Given the description of an element on the screen output the (x, y) to click on. 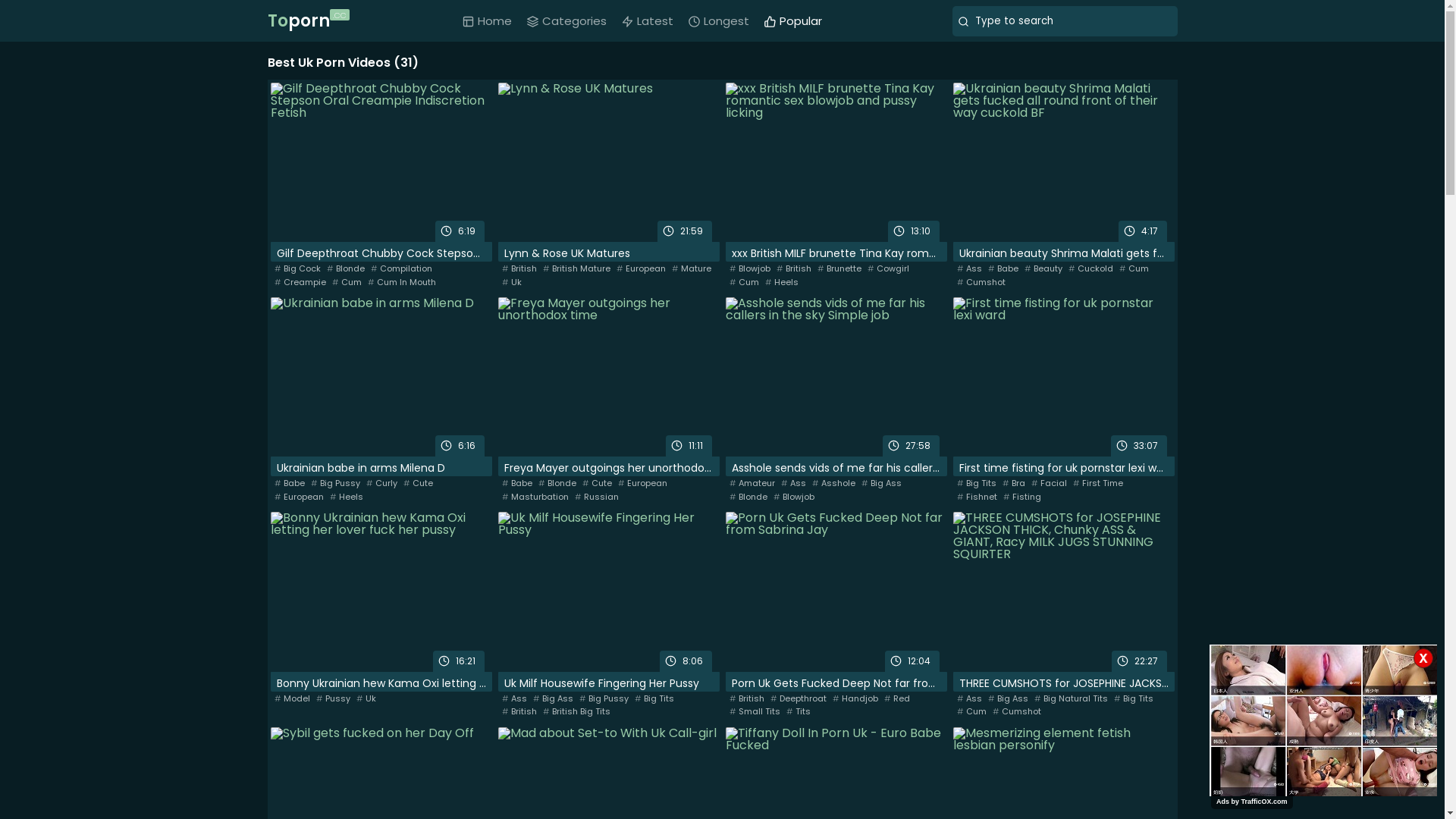
4:17 Element type: text (1062, 161)
British Element type: text (746, 698)
33:07 Element type: text (1062, 376)
Categories Element type: text (566, 20)
Big Ass Element type: text (552, 698)
European Element type: text (640, 268)
8:06 Element type: text (607, 591)
Blonde Element type: text (748, 496)
Deepthroat Element type: text (798, 698)
6:16 Element type: text (380, 376)
British Element type: text (793, 268)
Big Ass Element type: text (1007, 698)
Babe Element type: text (289, 483)
Pussy Element type: text (332, 698)
Longest Element type: text (718, 20)
British Mature Element type: text (576, 268)
Babe Element type: text (1002, 268)
Cum Element type: text (971, 711)
British Element type: text (519, 268)
13:10 Element type: text (835, 161)
Toporn
.cc Element type: text (305, 20)
Russian Element type: text (596, 496)
Fishnet Element type: text (977, 496)
Babe Element type: text (517, 483)
Fisting Element type: text (1021, 496)
Ass Element type: text (793, 483)
Cute Element type: text (418, 483)
British Element type: text (519, 711)
Home Element type: text (486, 20)
First Time Element type: text (1097, 483)
Facial Element type: text (1048, 483)
Curly Element type: text (380, 483)
Big Tits Element type: text (653, 698)
Cum In Mouth Element type: text (401, 282)
Cumshot Element type: text (981, 282)
27:58 Element type: text (835, 376)
Lynn & Rose UK Matures Element type: text (607, 254)
Cowgirl Element type: text (888, 268)
Cuckold Element type: text (1089, 268)
Red Element type: text (897, 698)
Porn Uk Gets Fucked Deep Not far from Sabrina Jay Element type: text (835, 684)
21:59 Element type: text (607, 161)
Big Tits Element type: text (1132, 698)
European Element type: text (641, 483)
Beauty Element type: text (1042, 268)
Uk Milf Housewife Fingering Her Pussy Element type: text (607, 684)
Popular Element type: text (793, 20)
Cumshot Element type: text (1015, 711)
Cum Element type: text (346, 282)
Mature Element type: text (691, 268)
Model Element type: text (292, 698)
Masturbation Element type: text (535, 496)
Ass Element type: text (969, 698)
First time fisting for uk pornstar lexi ward Element type: text (1062, 469)
Heels Element type: text (780, 282)
22:27 Element type: text (1062, 591)
Small Tits Element type: text (754, 711)
16:21 Element type: text (380, 591)
Ads by TrafficOX.com Element type: text (1251, 801)
6:19 Element type: text (380, 161)
Cute Element type: text (596, 483)
Big Cock Element type: text (297, 268)
Amateur Element type: text (752, 483)
Search X Videos Element type: hover (1064, 21)
Blowjob Element type: text (793, 496)
Big Tits Element type: text (976, 483)
Asshole Element type: text (832, 483)
Compilation Element type: text (400, 268)
Uk Element type: text (366, 698)
Freya Mayer outgoings her unorthodox time Element type: text (607, 469)
Handjob Element type: text (855, 698)
11:11 Element type: text (607, 376)
British Big Tits Element type: text (576, 711)
12:04 Element type: text (835, 591)
Ass Element type: text (514, 698)
Blonde Element type: text (557, 483)
Blonde Element type: text (345, 268)
Big Pussy Element type: text (335, 483)
Creampie Element type: text (300, 282)
Ass Element type: text (969, 268)
Latest Element type: text (647, 20)
Brunette Element type: text (839, 268)
Blowjob Element type: text (749, 268)
European Element type: text (298, 496)
Ukrainian babe in arms Milena D Element type: text (380, 469)
Big Natural Tits Element type: text (1070, 698)
Uk Element type: text (511, 282)
Tits Element type: text (797, 711)
Big Pussy Element type: text (603, 698)
Big Ass Element type: text (881, 483)
Cum Element type: text (744, 282)
Bra Element type: text (1013, 483)
Heels Element type: text (345, 496)
Cum Element type: text (1133, 268)
